Given the description of an element on the screen output the (x, y) to click on. 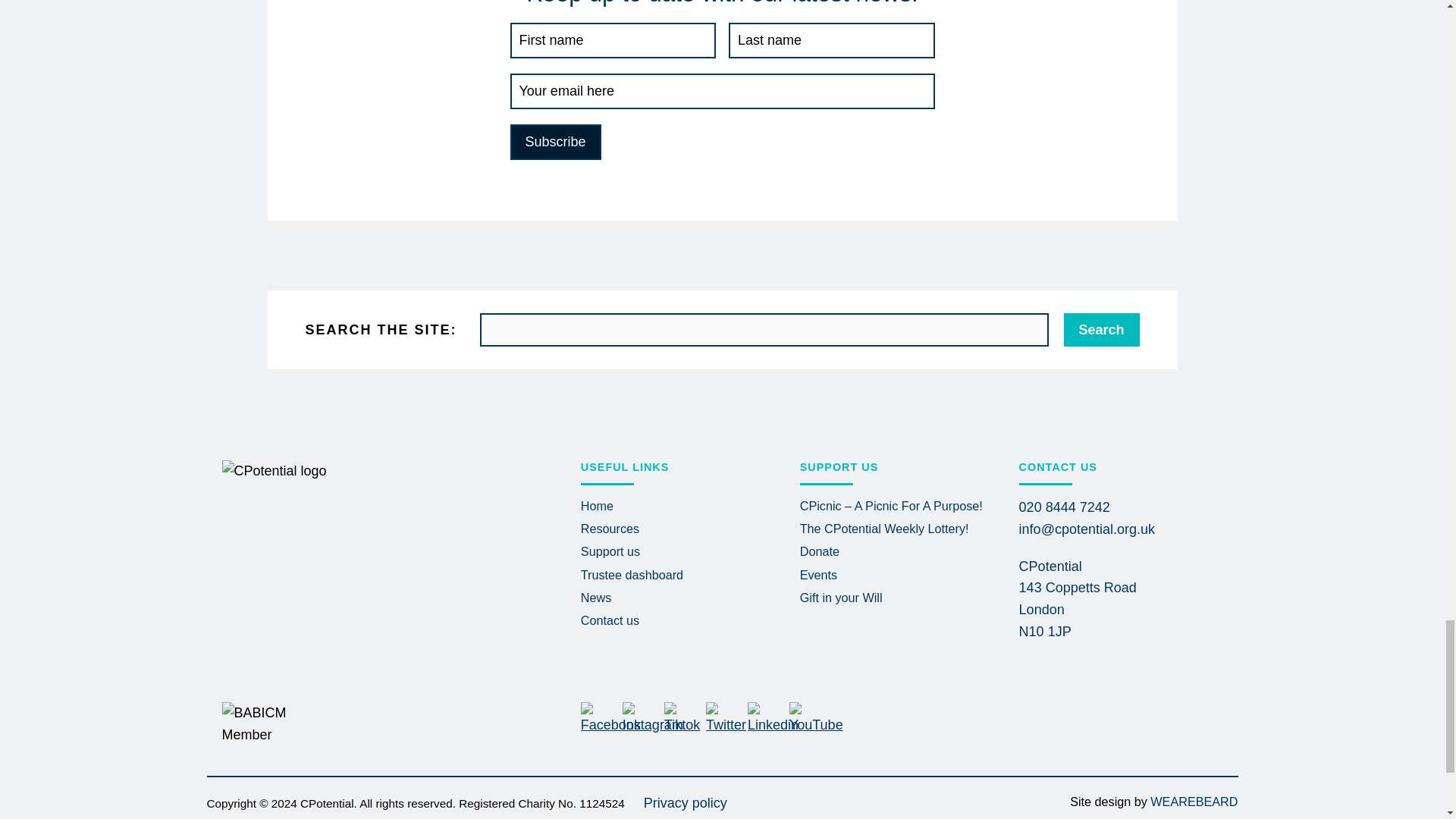
Search (1100, 329)
Call: 020 8444 7242 (1064, 507)
Subscribe (554, 141)
